Given the description of an element on the screen output the (x, y) to click on. 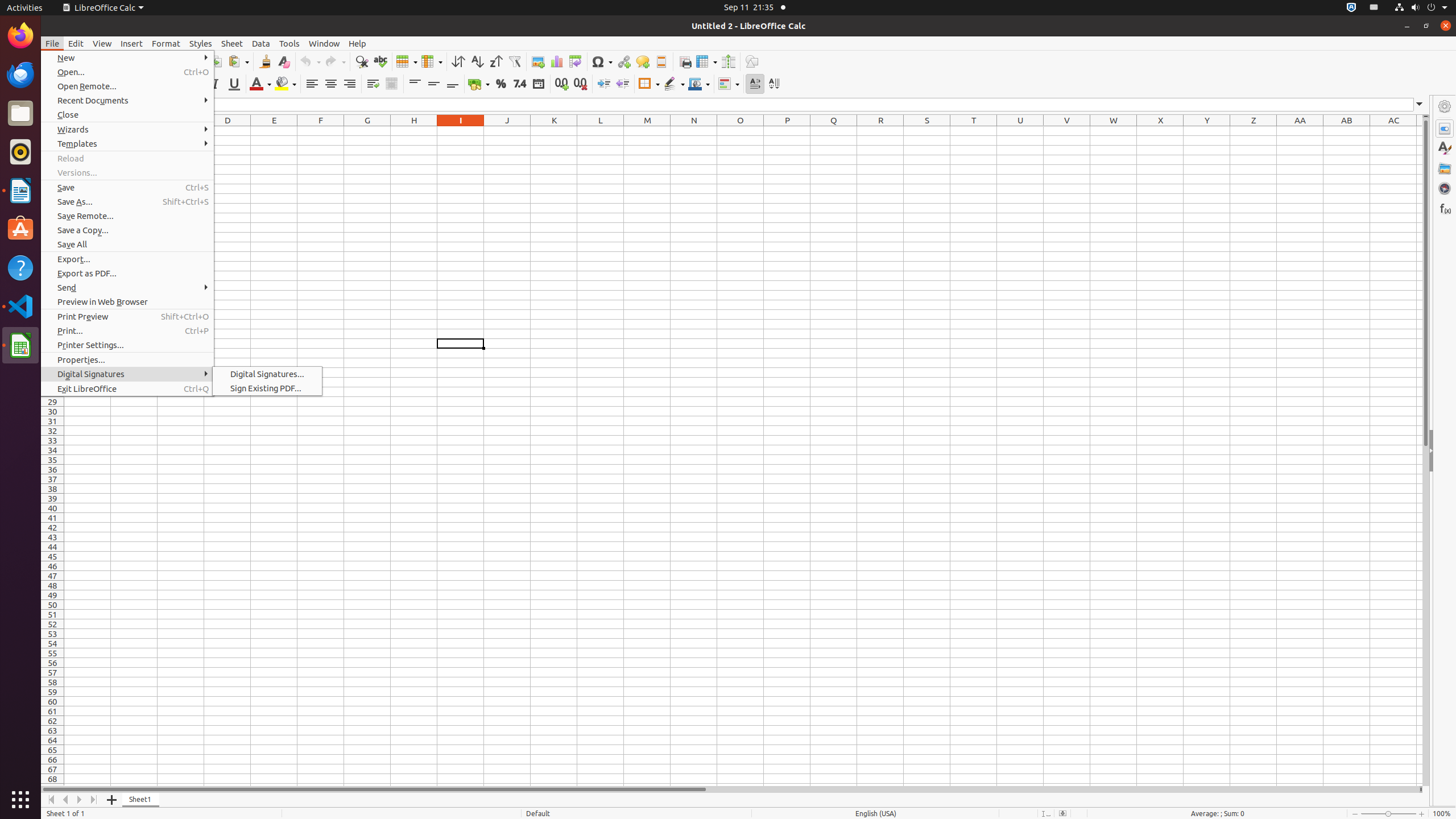
Save Remote... Element type: menu-item (126, 215)
Edit Element type: menu (75, 43)
Underline Element type: push-button (233, 83)
Sheet1 Element type: page-tab (140, 799)
Currency Element type: push-button (478, 83)
